Given the description of an element on the screen output the (x, y) to click on. 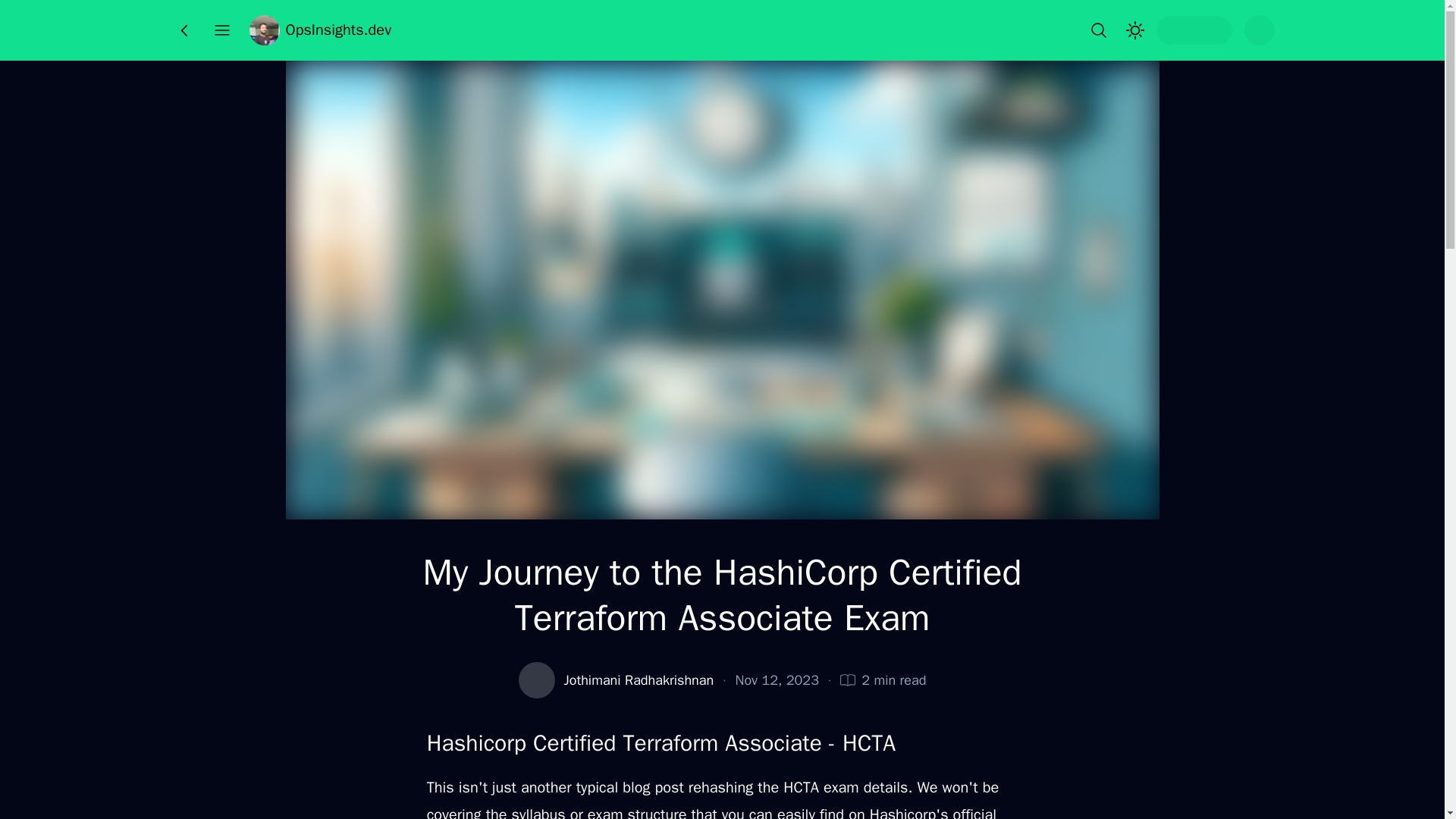
Nov 12, 2023 (776, 680)
OpsInsights.dev (319, 30)
Jothimani Radhakrishnan (639, 680)
